Given the description of an element on the screen output the (x, y) to click on. 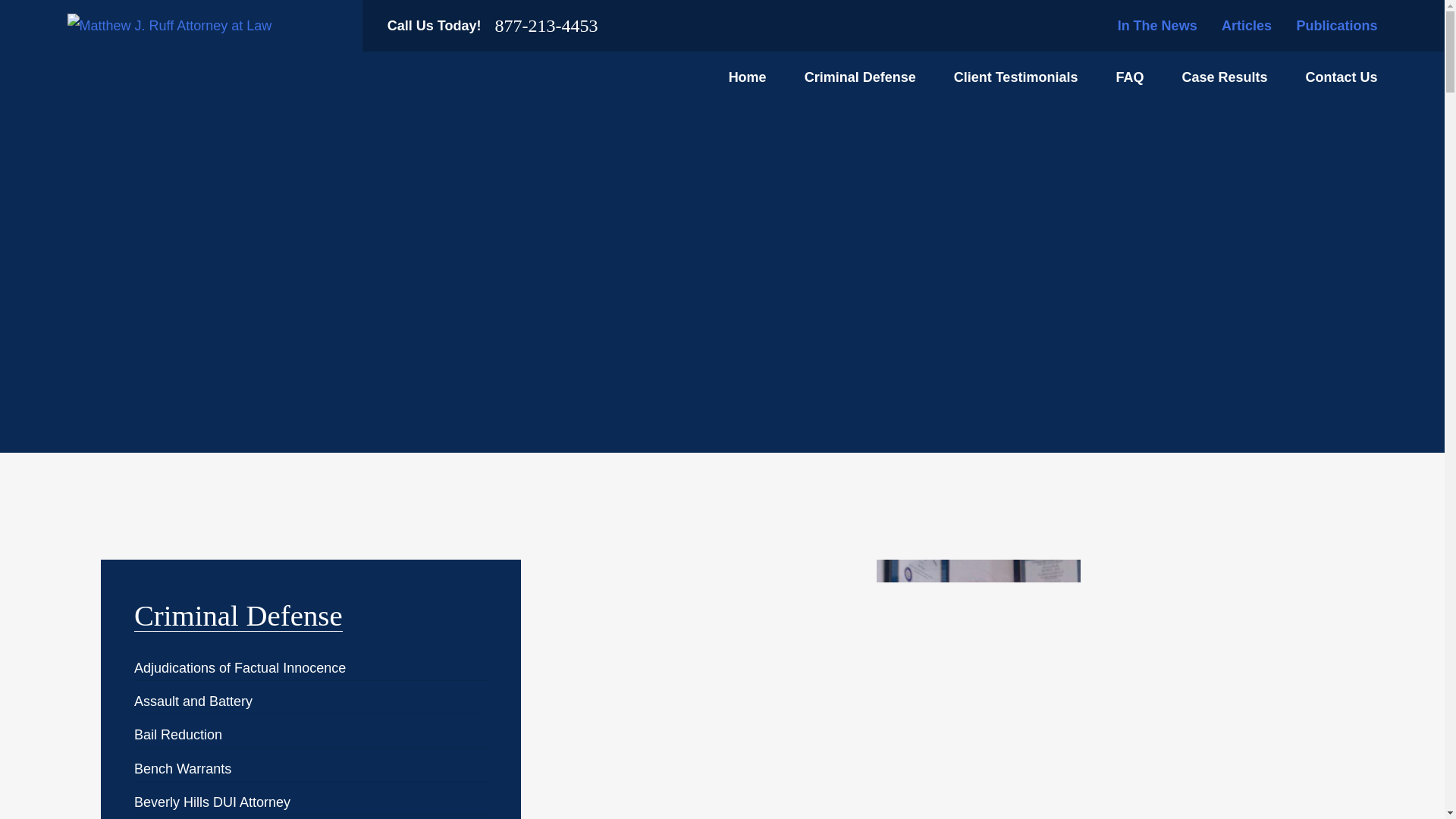
Home (748, 77)
In The News (1157, 25)
Articles (1246, 25)
Criminal Defense (860, 77)
Publications (1336, 25)
877-213-4453 (545, 25)
Home (168, 25)
